Given the description of an element on the screen output the (x, y) to click on. 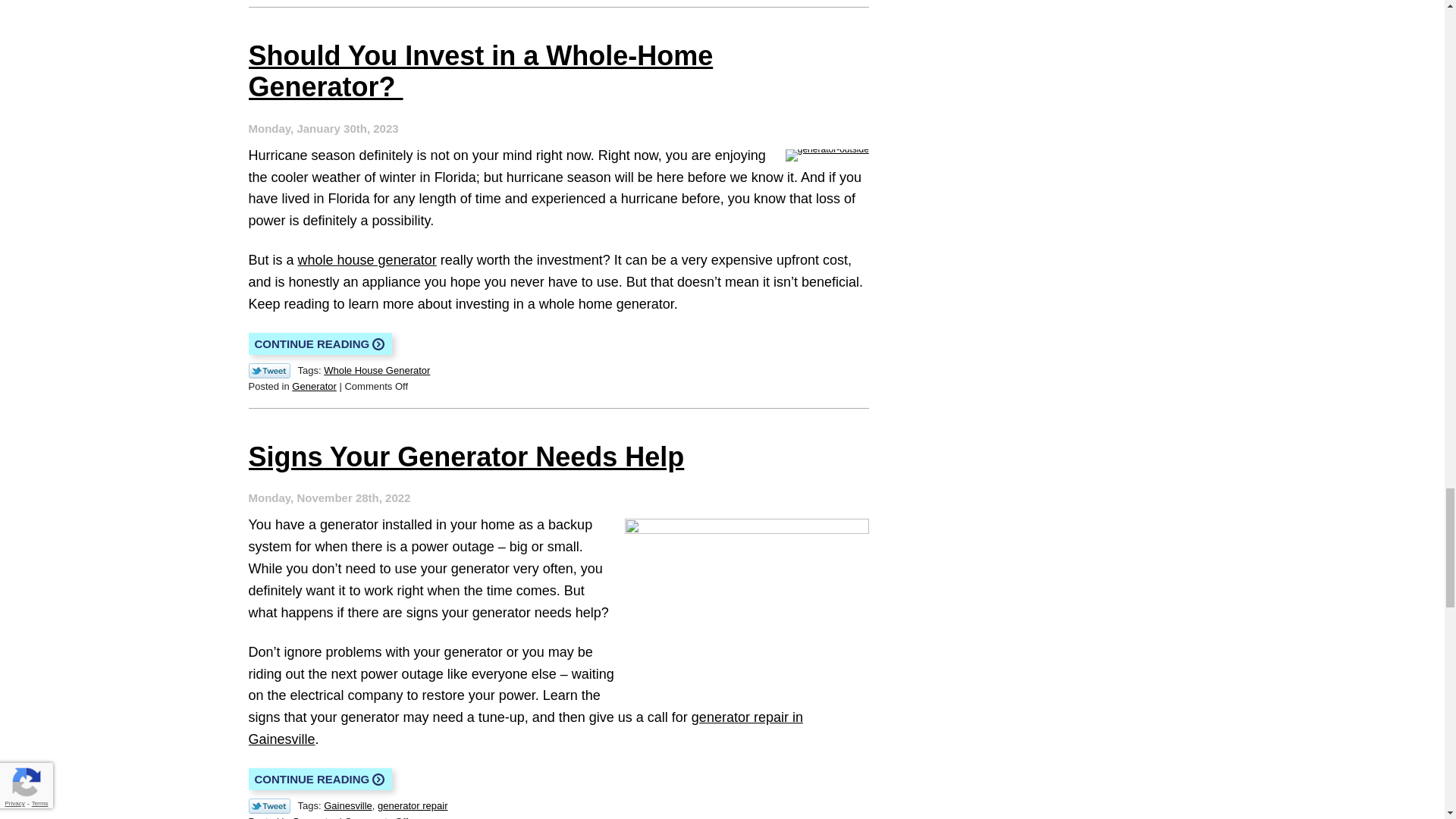
Permanent Link to Signs Your Generator Needs Help (466, 456)
Permanent Link to Signs Your Generator Needs Help (320, 779)
